Given the description of an element on the screen output the (x, y) to click on. 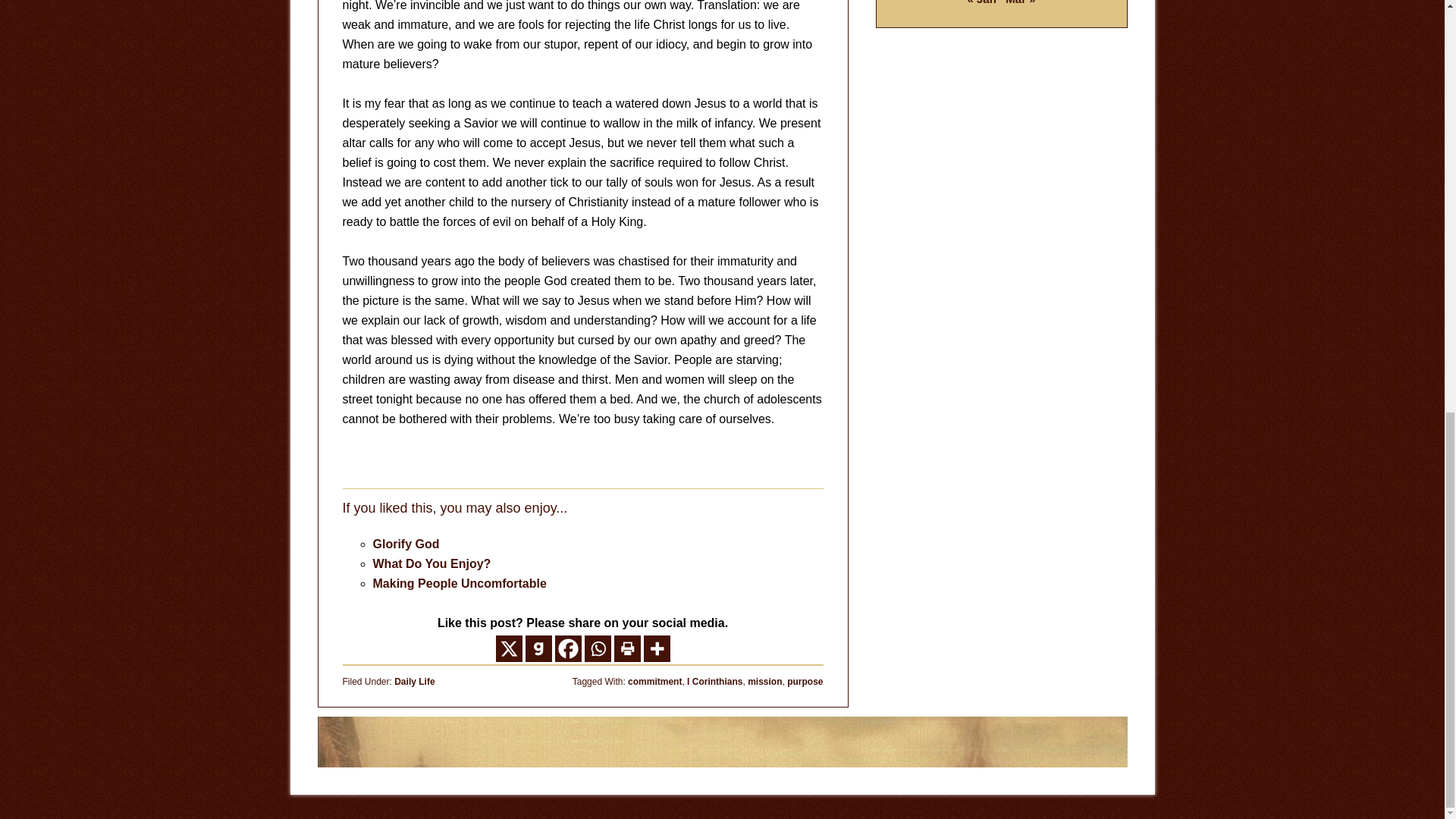
I Corinthians (714, 681)
What Do You Enjoy? (432, 563)
purpose (804, 681)
Glorify God (405, 543)
Making People Uncomfortable (459, 583)
Print (627, 648)
Making People Uncomfortable (459, 583)
Facebook (567, 648)
mission (764, 681)
Glorify God (405, 543)
